Given the description of an element on the screen output the (x, y) to click on. 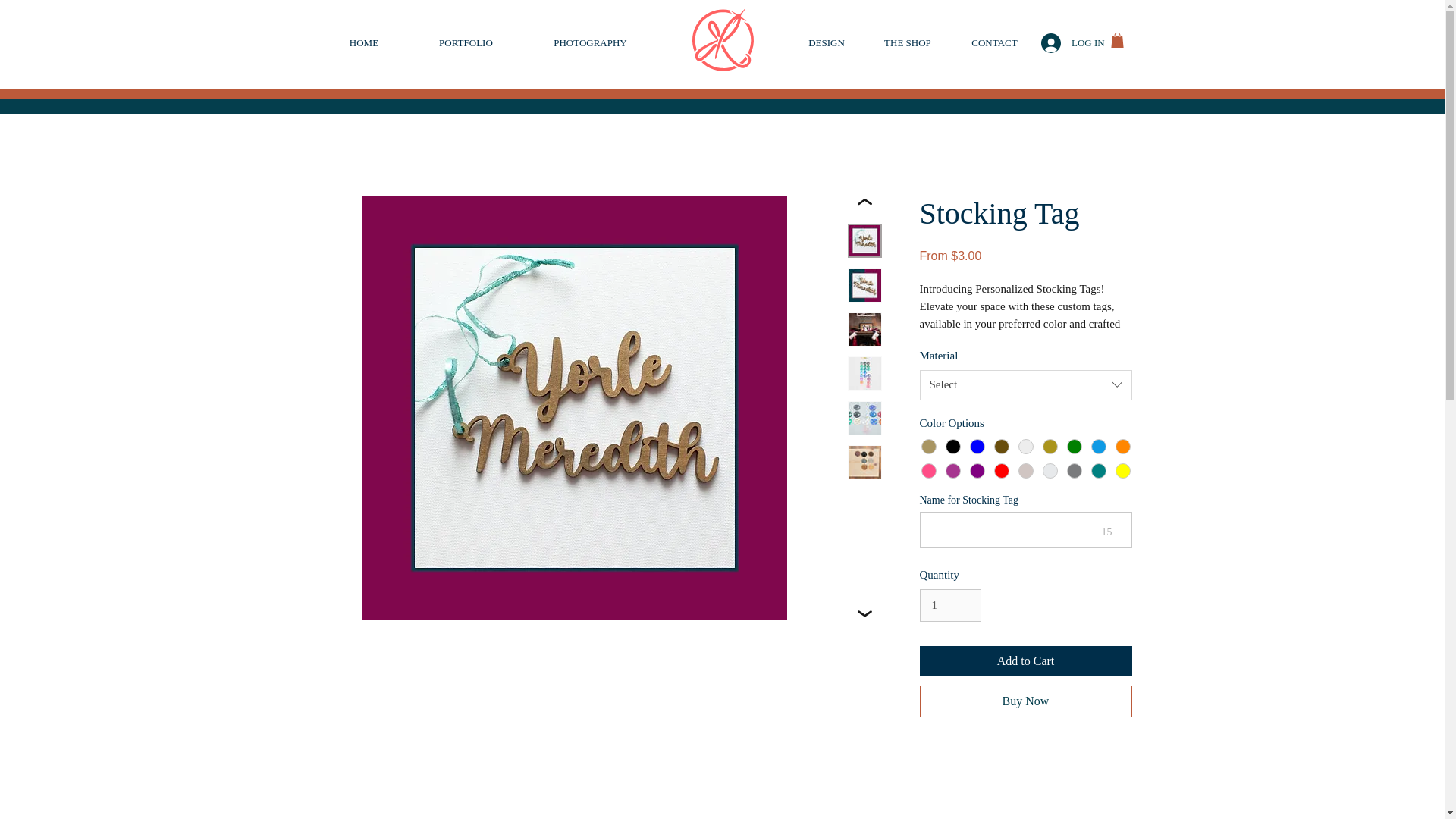
THE SHOP (907, 43)
Select (1024, 385)
PHOTOGRAPHY (590, 43)
DESIGN (826, 43)
CONTACT (994, 43)
Buy Now (1024, 701)
LOG IN (1060, 42)
HOME (363, 43)
1 (949, 605)
PORTFOLIO (465, 43)
Add to Cart (1024, 661)
